Given the description of an element on the screen output the (x, y) to click on. 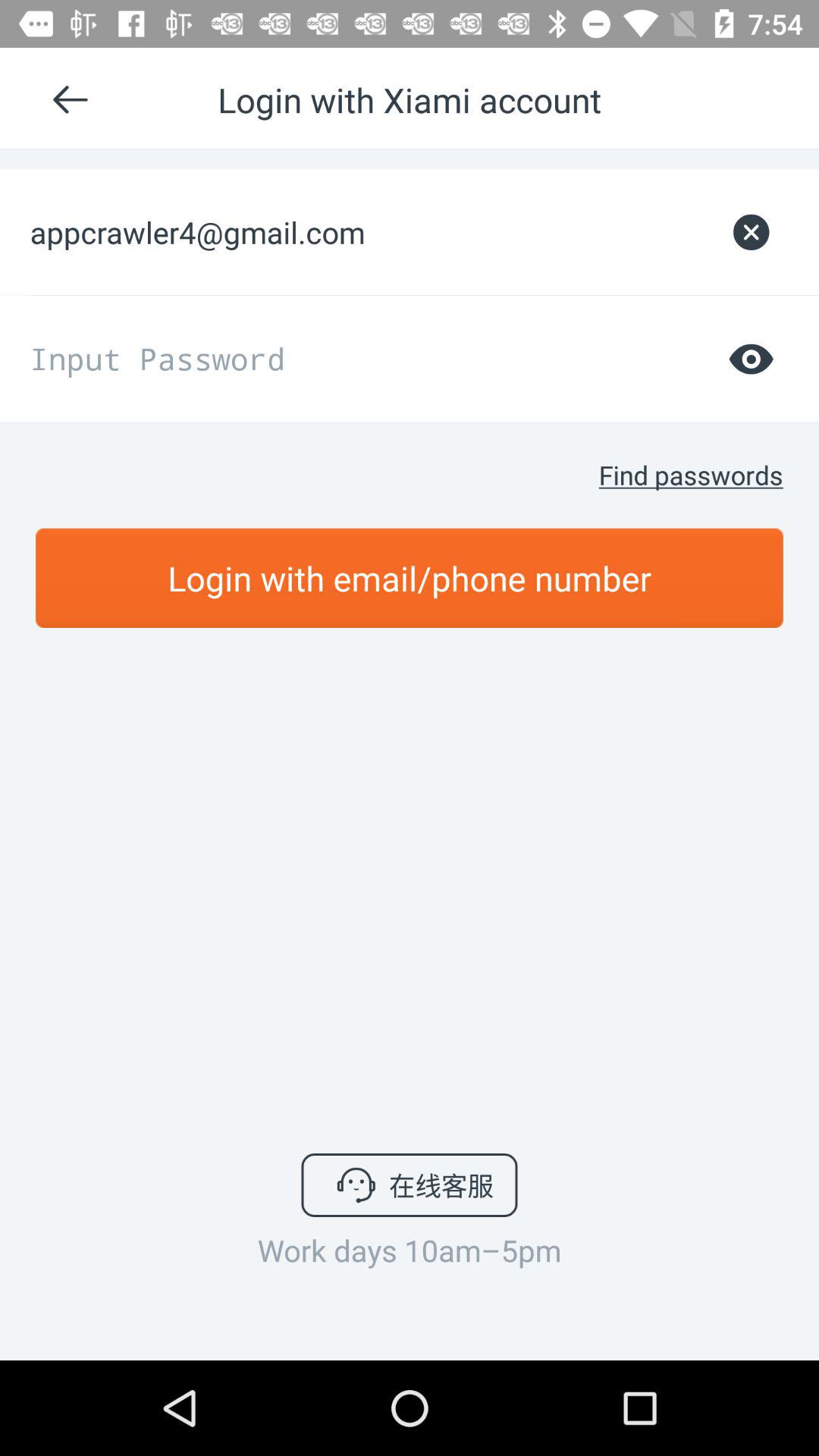
click icon above login with email (690, 474)
